Given the description of an element on the screen output the (x, y) to click on. 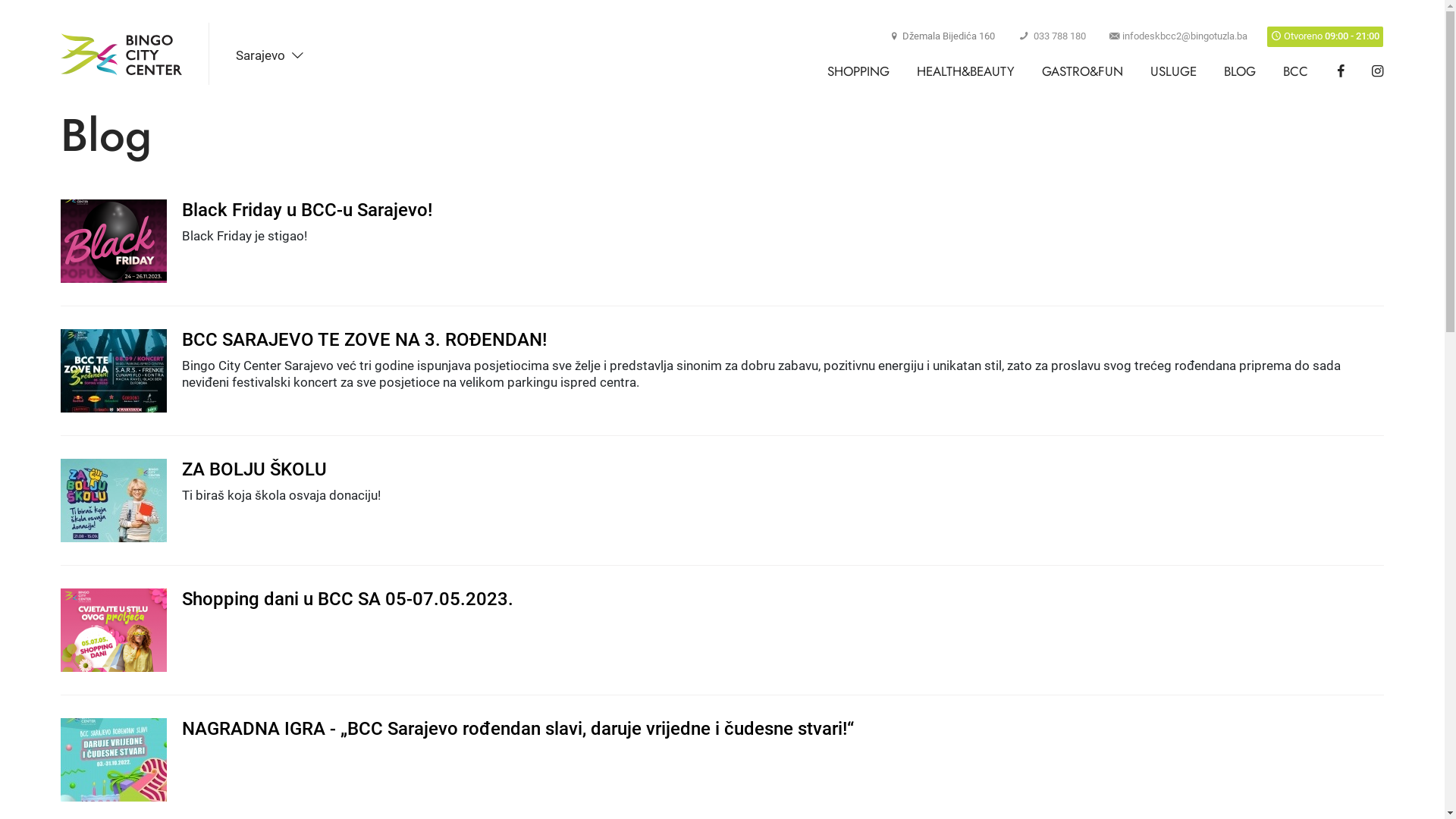
Black Friday u BCC-u Sarajevo! Element type: text (721, 210)
USLUGE Element type: text (1173, 70)
BCC Element type: text (1295, 70)
BLOG Element type: text (1239, 70)
GASTRO&FUN Element type: text (1082, 70)
SHOPPING Element type: text (858, 70)
infodeskbcc2@bingotuzla.ba Element type: text (1178, 35)
033 788 180 Element type: text (1051, 35)
HEALTH&BEAUTY Element type: text (965, 70)
Shopping dani u BCC SA 05-07.05.2023. Element type: text (721, 599)
